Given the description of an element on the screen output the (x, y) to click on. 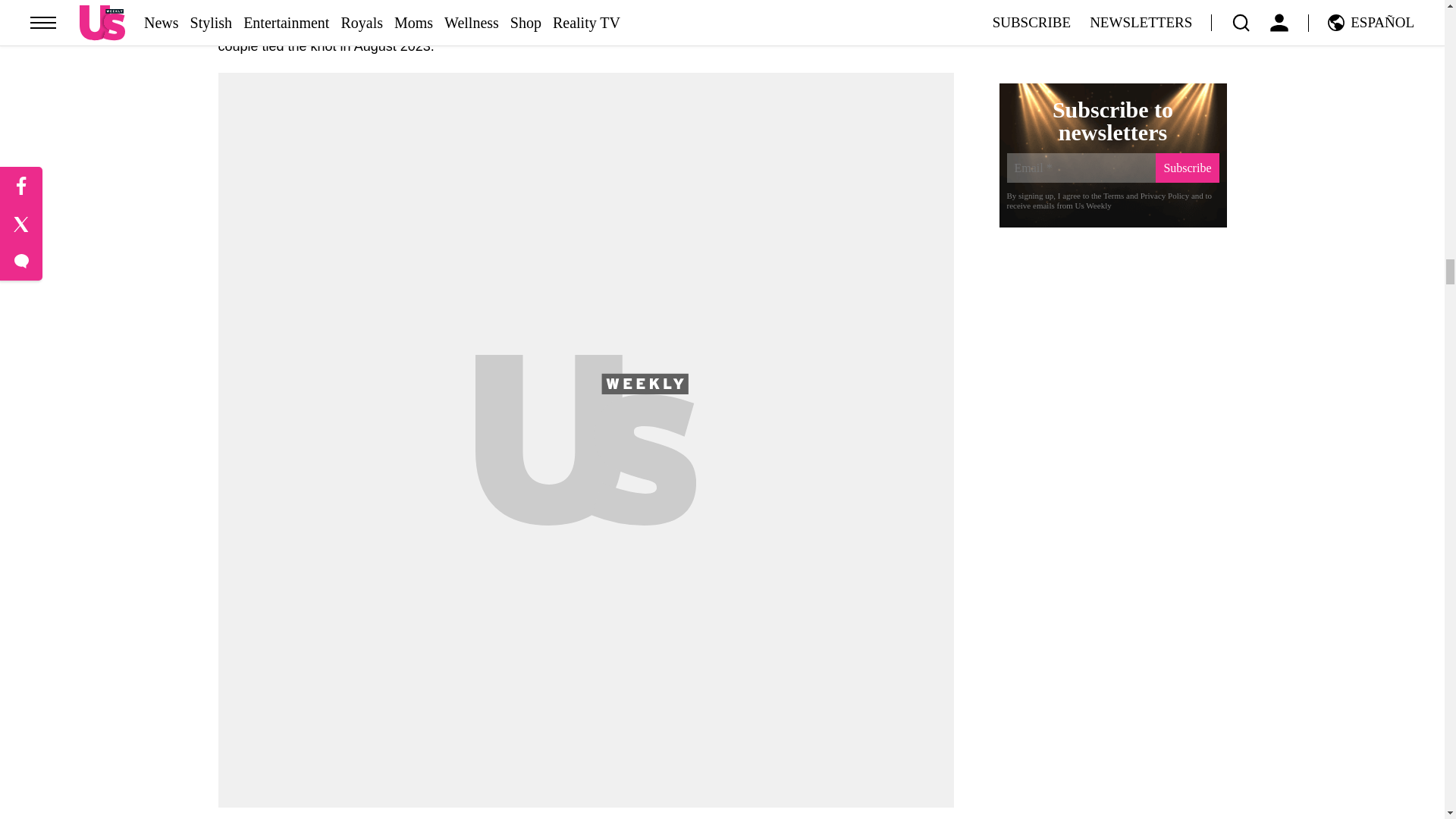
Hannah Godwin and Dylan Barbour (585, 31)
